Given the description of an element on the screen output the (x, y) to click on. 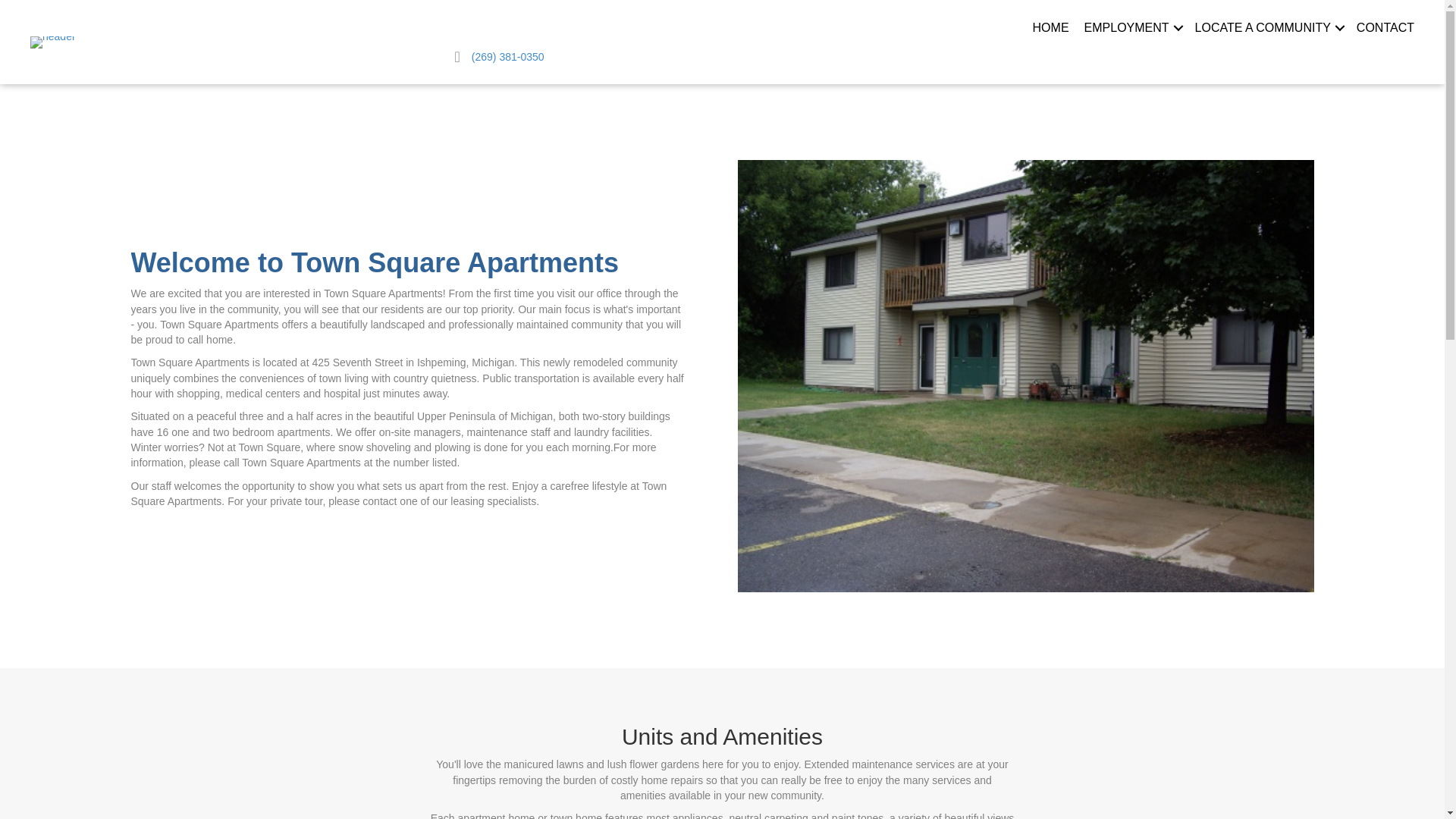
LOCATE A COMMUNITY (1267, 29)
EMPLOYMENT (1131, 29)
header (52, 42)
HOME (1050, 29)
